Given the description of an element on the screen output the (x, y) to click on. 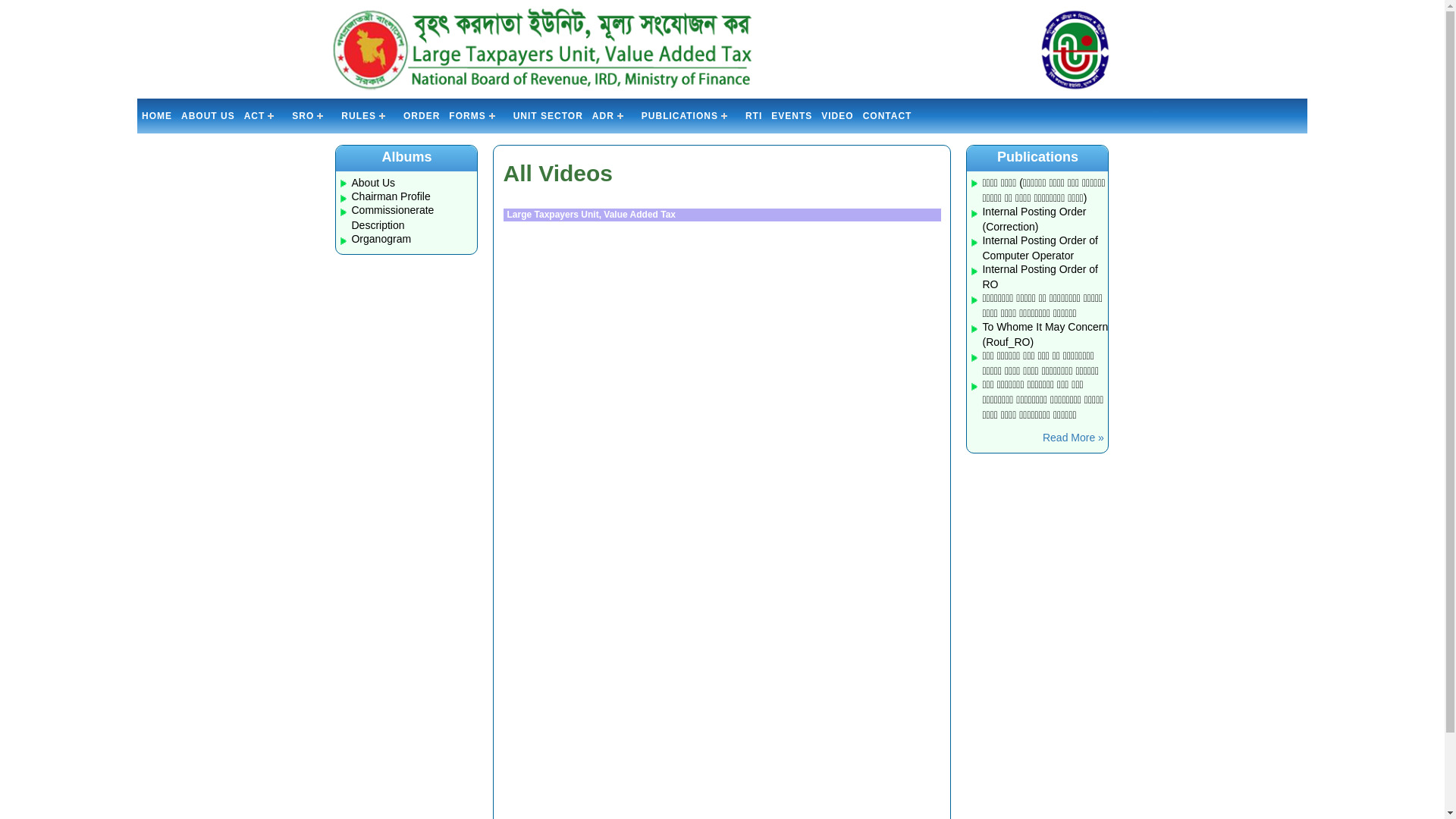
ACT Element type: text (263, 115)
Internal Posting Order of RO Element type: text (1040, 276)
PUBLICATIONS Element type: text (688, 115)
FORMS Element type: text (476, 115)
Organogram Element type: text (381, 238)
SRO Element type: text (311, 115)
Chairman Profile Element type: text (390, 196)
UNIT SECTOR Element type: text (547, 115)
Internal Posting Order of Computer Operator Element type: text (1040, 247)
ORDER Element type: text (421, 115)
EVENTS Element type: text (791, 115)
ABOUT US Element type: text (207, 115)
CONTACT Element type: text (887, 115)
RTI Element type: text (753, 115)
RULES Element type: text (367, 115)
VIDEO Element type: text (836, 115)
About Us Element type: text (373, 182)
Commissionerate Description Element type: text (392, 217)
Internal Posting Order (Correction) Element type: text (1033, 218)
ADR Element type: text (612, 115)
To Whome It May Concern (Rouf_RO) Element type: text (1044, 334)
HOME Element type: text (156, 115)
